Given the description of an element on the screen output the (x, y) to click on. 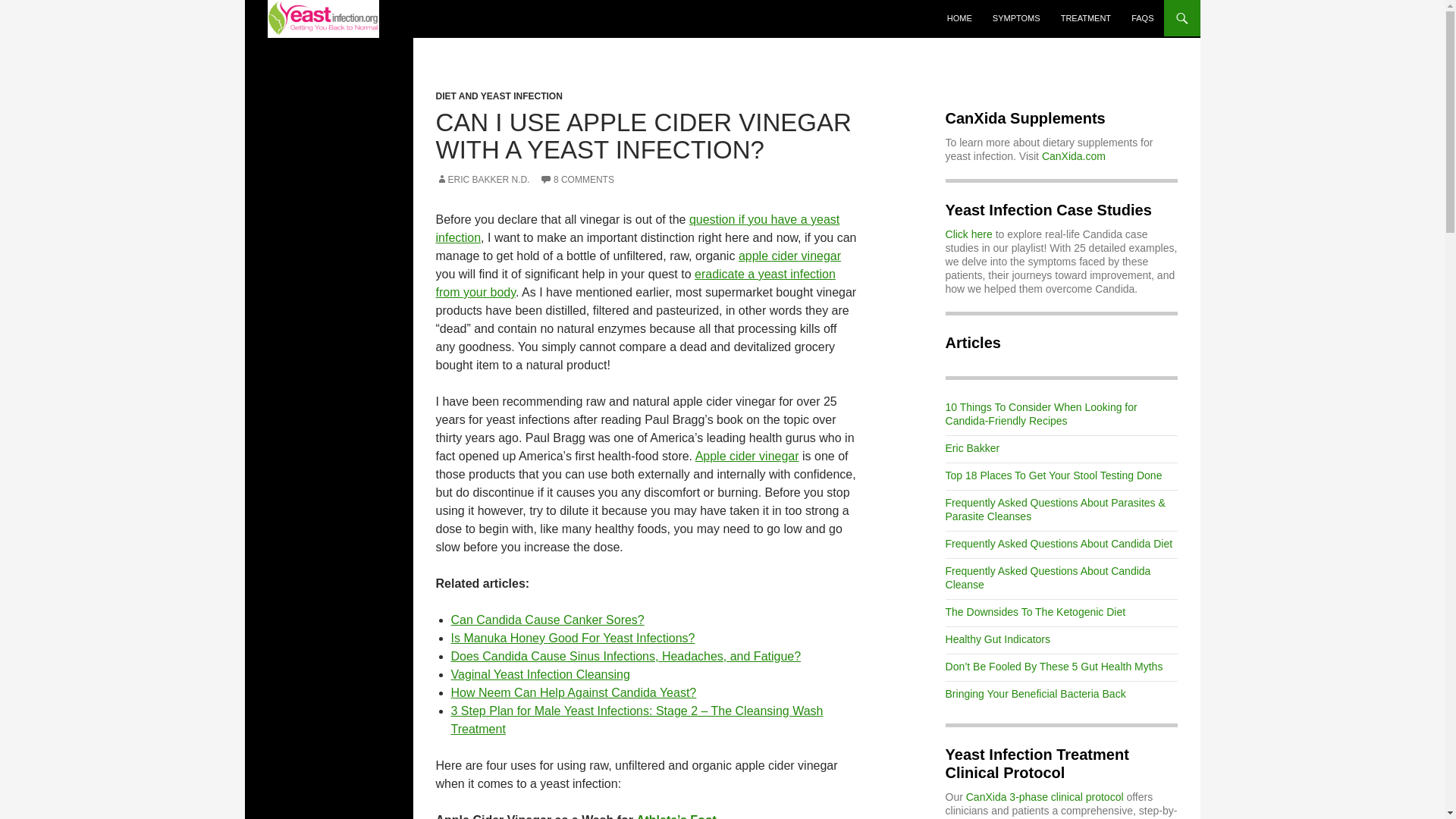
apple cider vinegar (789, 255)
Vaginal Yeast Infection Cleansing (538, 674)
SYMPTOMS (1016, 18)
eradicate a yeast infection from your body (634, 282)
HOME (959, 18)
question if you have a yeast infection (637, 228)
FAQS (1141, 18)
Apple cider vinegar (747, 455)
Does Candida Cause Sinus Infections, Headaches, and Fatigue? (624, 656)
How Neem Can Help Against Candida Yeast? (572, 692)
